Given the description of an element on the screen output the (x, y) to click on. 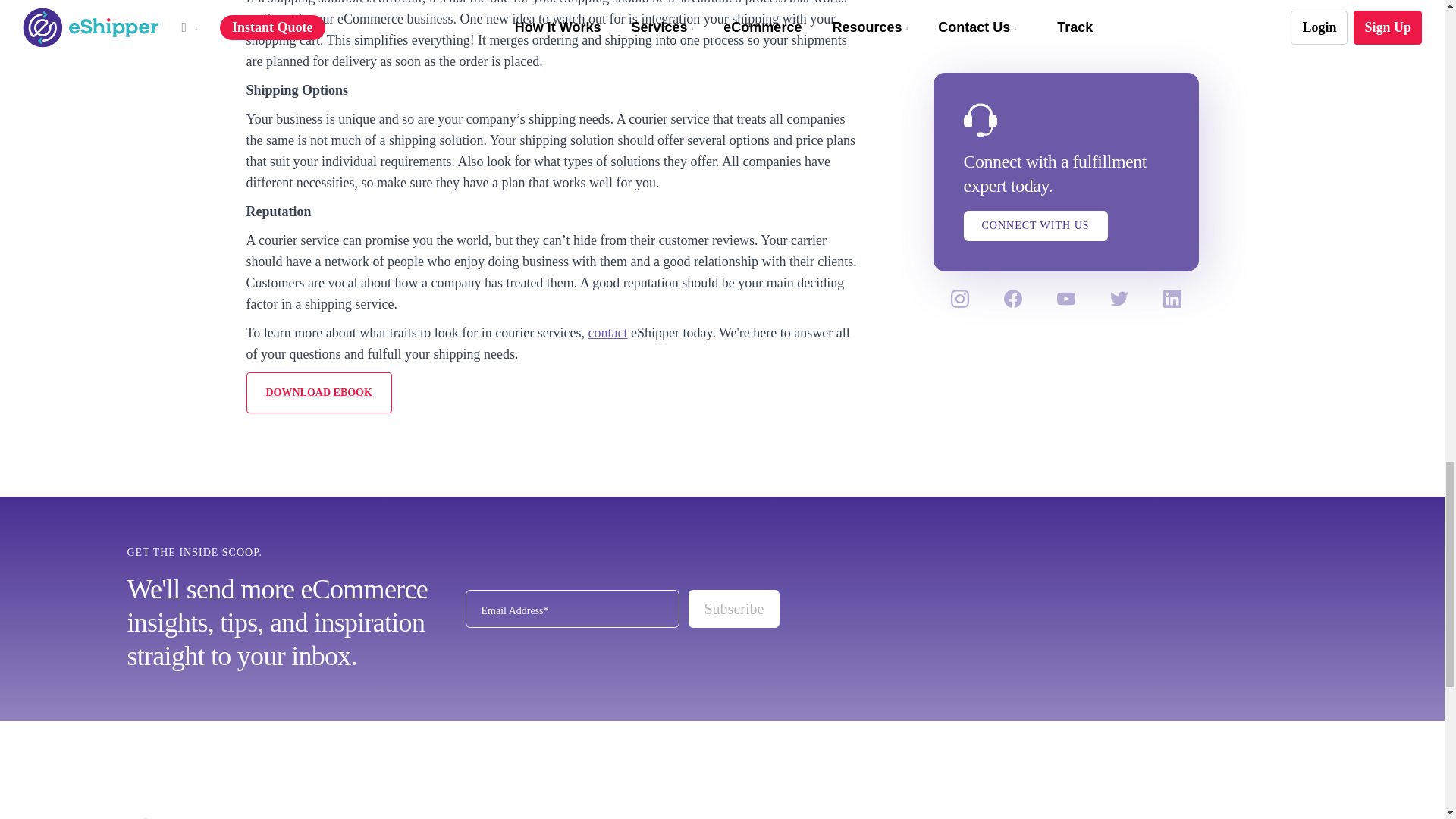
Subscribe (734, 608)
